Given the description of an element on the screen output the (x, y) to click on. 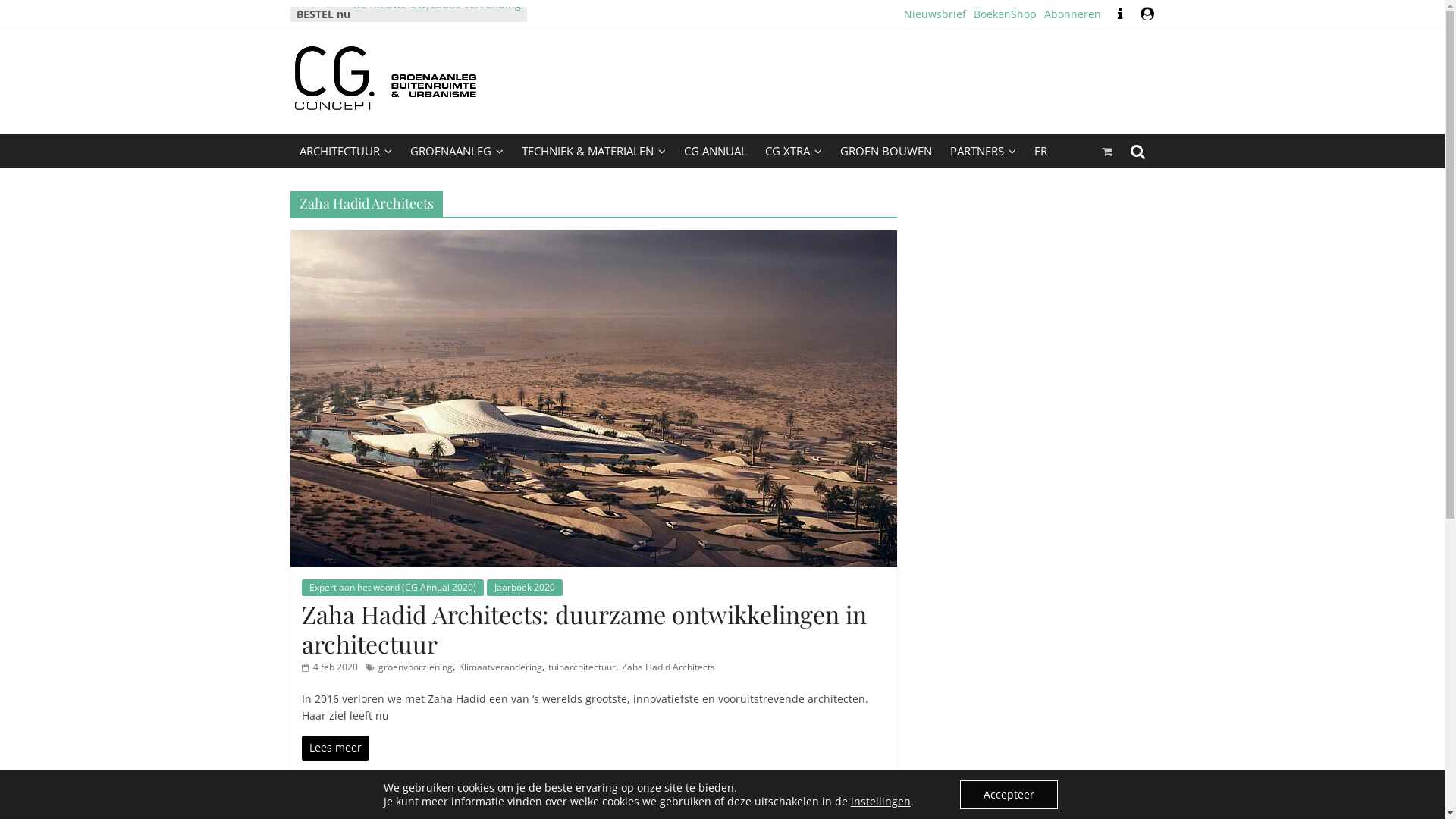
4 feb 2020 Element type: text (329, 666)
CGconcept.be Element type: text (398, 98)
tuinarchitectuur Element type: text (581, 666)
Expert aan het woord (CG Annual 2020) Element type: text (392, 587)
GROENAANLEG Element type: text (455, 151)
CG XTRA Element type: text (792, 151)
groenvoorziening Element type: text (414, 666)
De nieuwe CG|Gratis verzending Element type: text (436, 13)
Zaha Hadid Architects Element type: text (668, 666)
GROEN BOUWEN Element type: text (886, 150)
instellingen Element type: text (880, 801)
Accepteer Element type: text (1008, 794)
TECHNIEK & MATERIALEN Element type: text (593, 151)
Klimaatverandering Element type: text (499, 666)
Jaarboek 2020 Element type: text (524, 587)
Abonneren Element type: text (1071, 14)
PARTNERS Element type: text (982, 151)
Nieuwsbrief Element type: text (934, 14)
CG ANNUAL Element type: text (715, 150)
Lees meer Element type: text (335, 747)
FR Element type: text (1040, 150)
BoekenShop Element type: text (1004, 14)
ARCHITECTUUR Element type: text (344, 151)
